Given the description of an element on the screen output the (x, y) to click on. 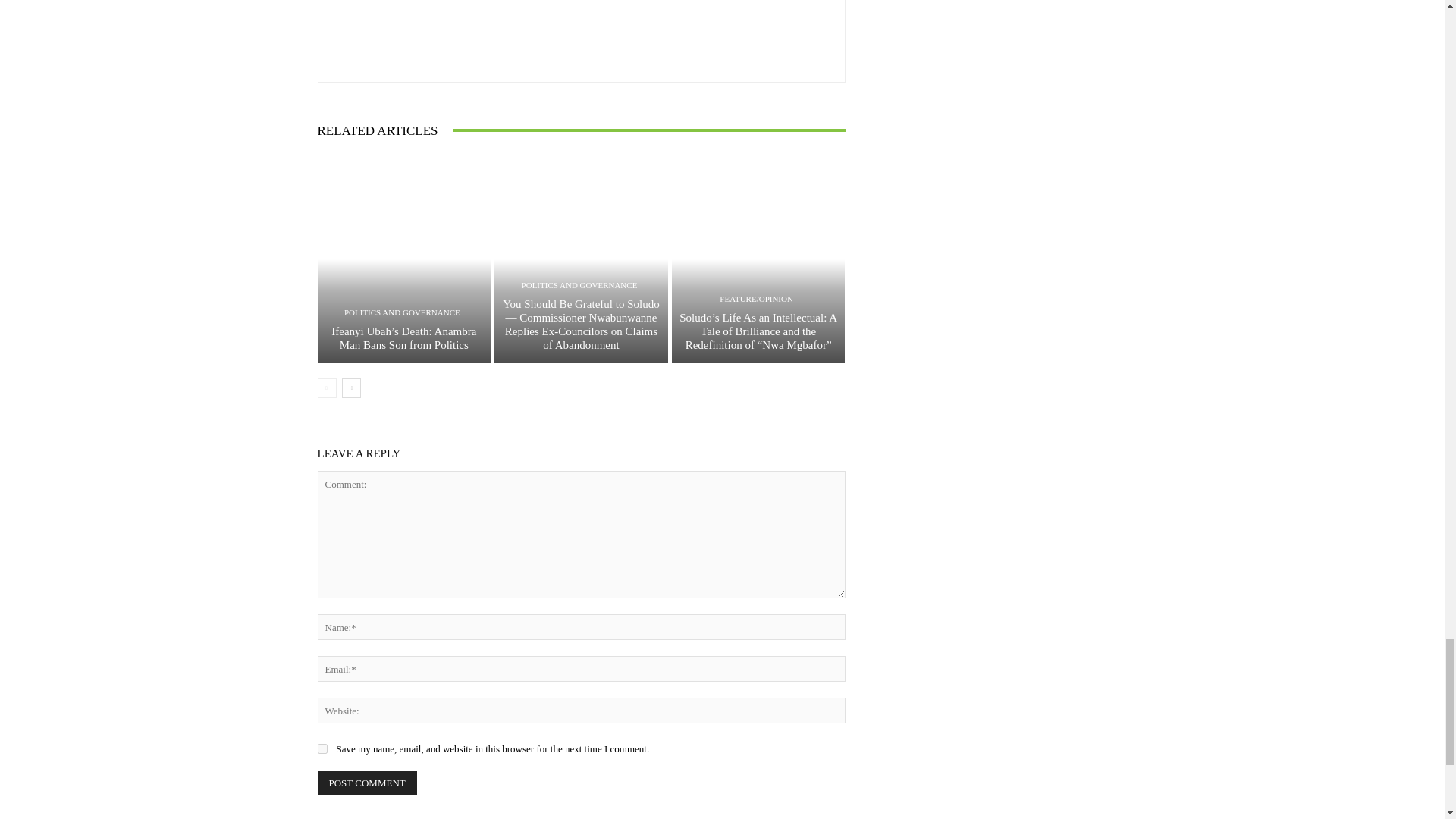
Post Comment (366, 783)
yes (321, 748)
